Given the description of an element on the screen output the (x, y) to click on. 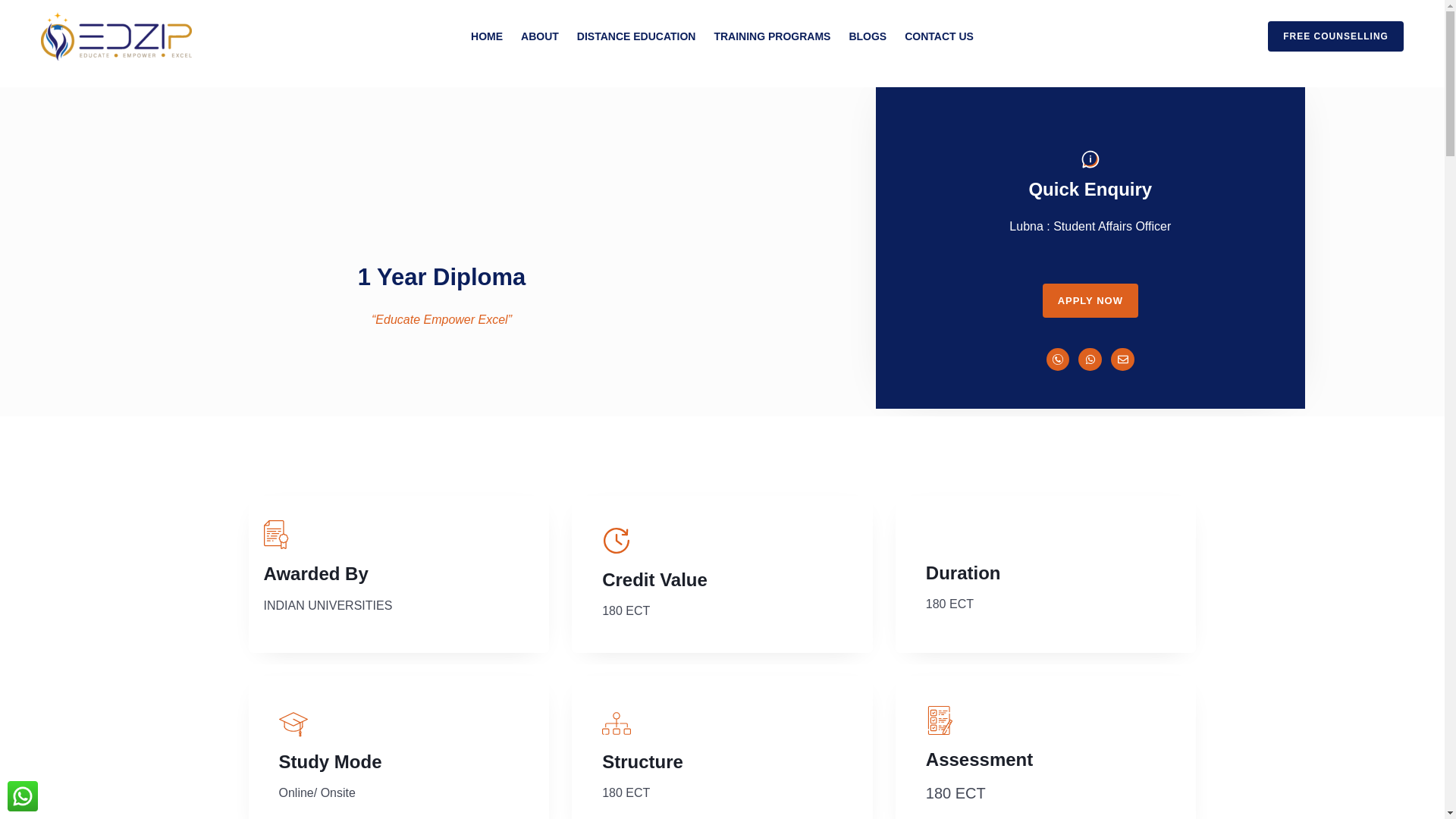
Envelope (1122, 359)
HOME (486, 36)
DISTANCE EDUCATION (635, 36)
Whatsapp (1090, 359)
TRAINING PROGRAMS (772, 36)
FREE COUNSELLING (1326, 36)
ABOUT (539, 36)
CONTACT US (938, 36)
APPLY NOW (1090, 300)
BLOGS (867, 36)
